Given the description of an element on the screen output the (x, y) to click on. 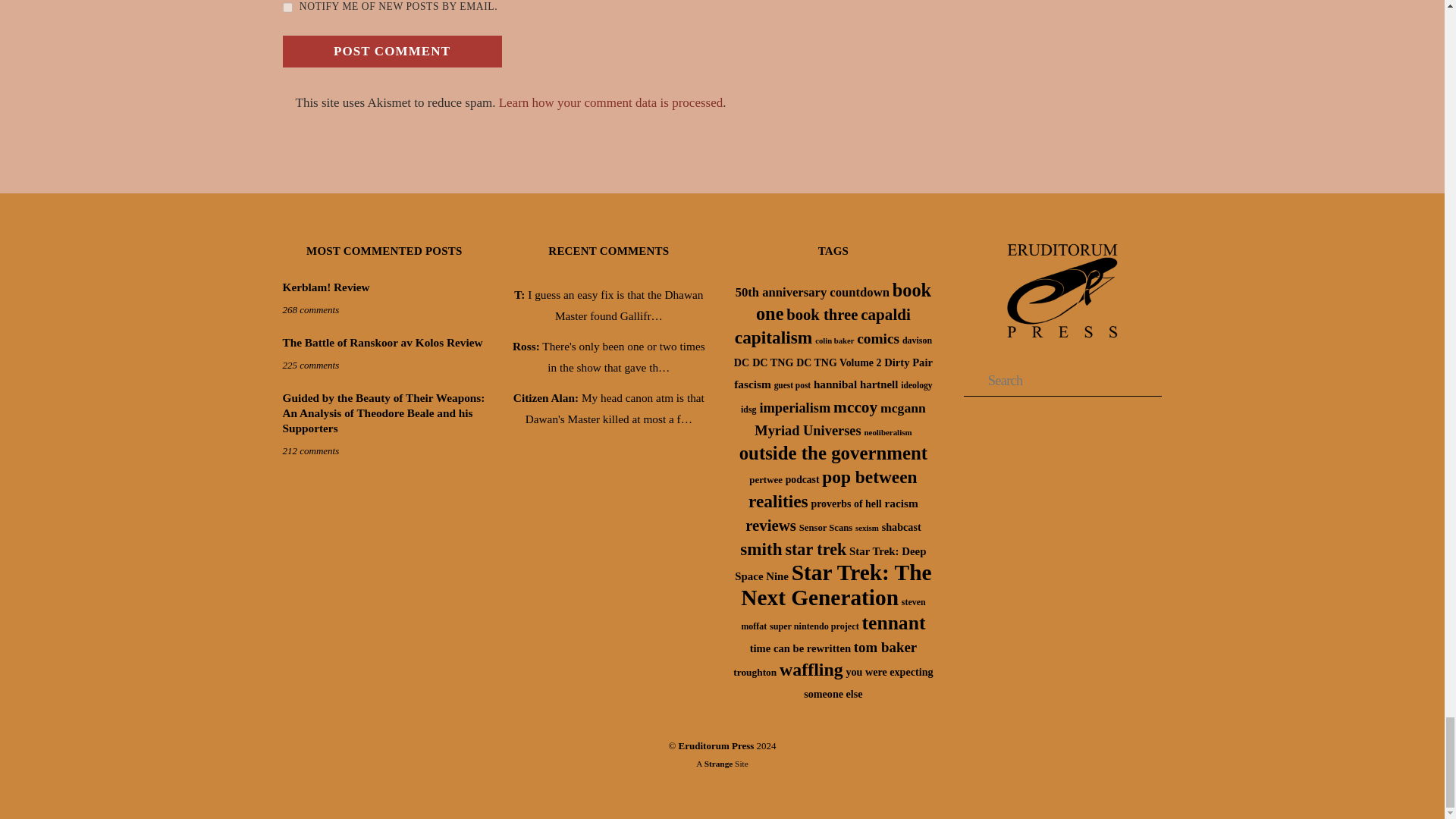
Strange Specimen (718, 763)
Eruditorum Press Logo (1062, 291)
Eruditorum Press (1062, 342)
Search (1062, 380)
Post Comment (391, 51)
